Given the description of an element on the screen output the (x, y) to click on. 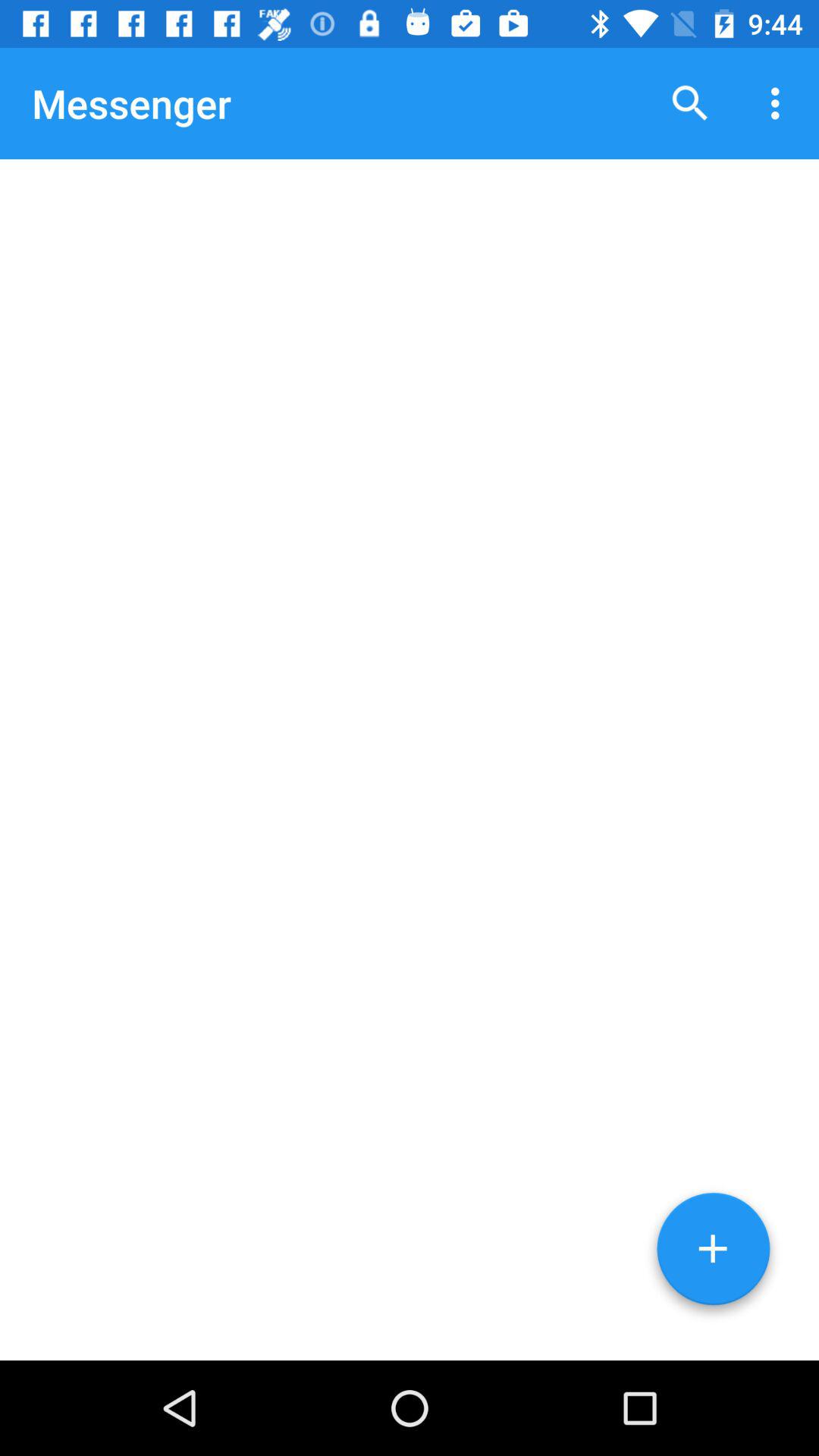
choose the app to the right of messenger app (690, 103)
